Given the description of an element on the screen output the (x, y) to click on. 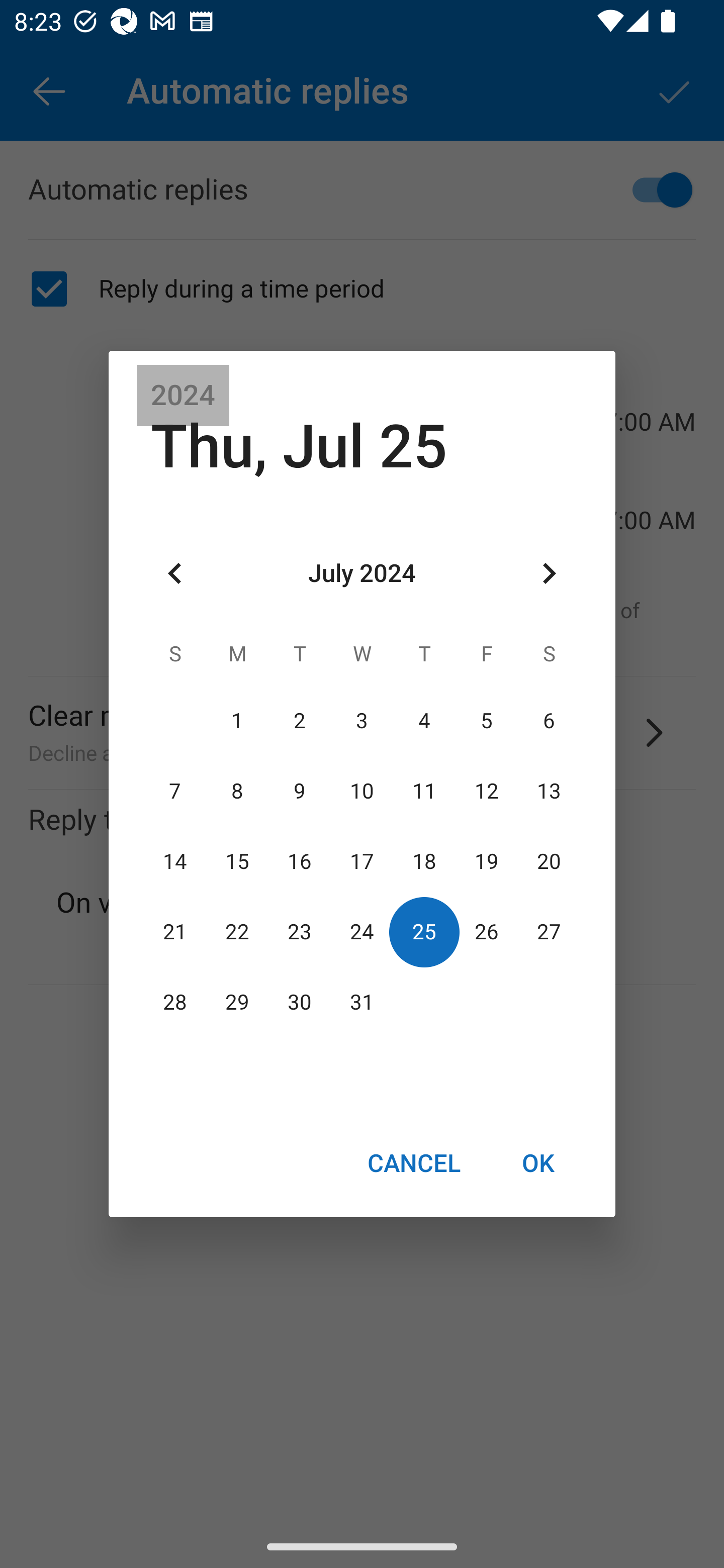
2024 (182, 395)
Thu, Jul 25 (298, 446)
Previous month (174, 573)
Next month (548, 573)
1 01 July 2024 (237, 720)
2 02 July 2024 (299, 720)
3 03 July 2024 (361, 720)
4 04 July 2024 (424, 720)
5 05 July 2024 (486, 720)
6 06 July 2024 (548, 720)
7 07 July 2024 (175, 790)
8 08 July 2024 (237, 790)
9 09 July 2024 (299, 790)
10 10 July 2024 (361, 790)
11 11 July 2024 (424, 790)
12 12 July 2024 (486, 790)
13 13 July 2024 (548, 790)
14 14 July 2024 (175, 861)
15 15 July 2024 (237, 861)
16 16 July 2024 (299, 861)
17 17 July 2024 (361, 861)
18 18 July 2024 (424, 861)
19 19 July 2024 (486, 861)
20 20 July 2024 (548, 861)
21 21 July 2024 (175, 931)
22 22 July 2024 (237, 931)
23 23 July 2024 (299, 931)
24 24 July 2024 (361, 931)
25 25 July 2024 (424, 931)
26 26 July 2024 (486, 931)
27 27 July 2024 (548, 931)
28 28 July 2024 (175, 1002)
29 29 July 2024 (237, 1002)
30 30 July 2024 (299, 1002)
31 31 July 2024 (361, 1002)
CANCEL (413, 1162)
OK (537, 1162)
